Given the description of an element on the screen output the (x, y) to click on. 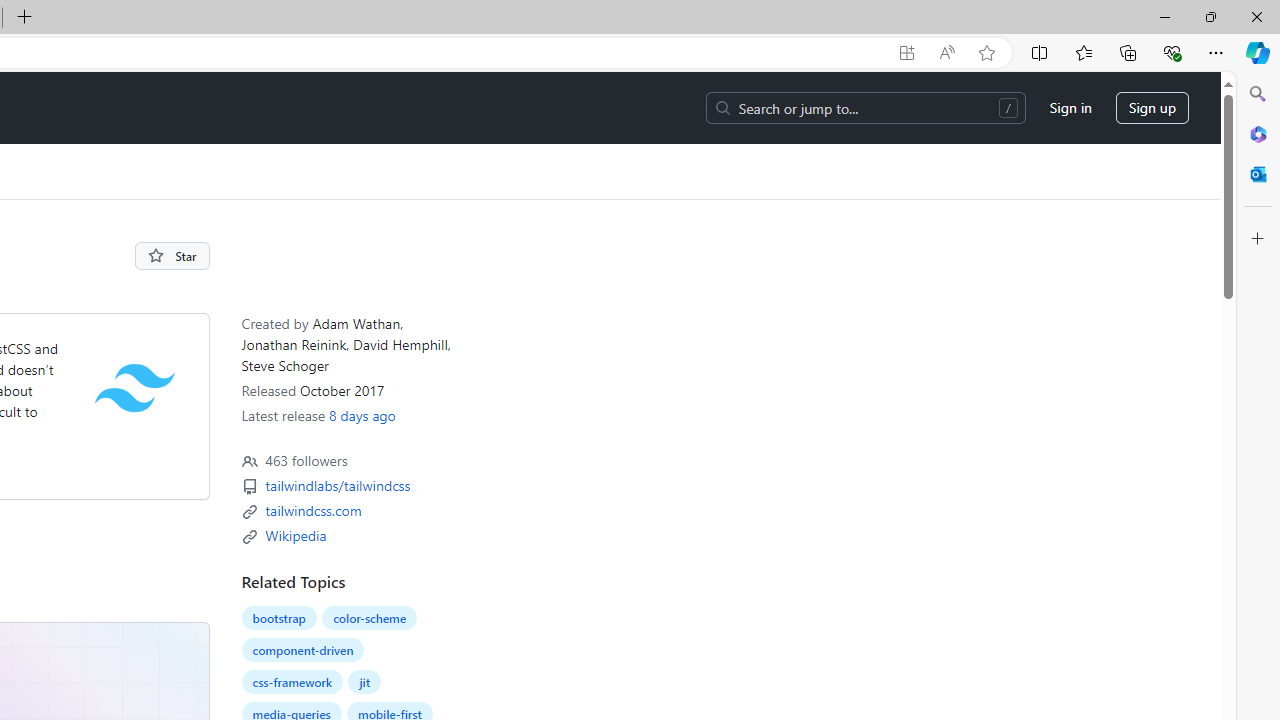
color-scheme (370, 618)
App available. Install GitHub (906, 53)
tailwindlabs/tailwindcss (337, 485)
css-framework (292, 682)
en.wikipedia.org/wiki/Tailwind_CSS (295, 534)
You must be signed in to star a repository (171, 255)
bootstrap (278, 618)
